Given the description of an element on the screen output the (x, y) to click on. 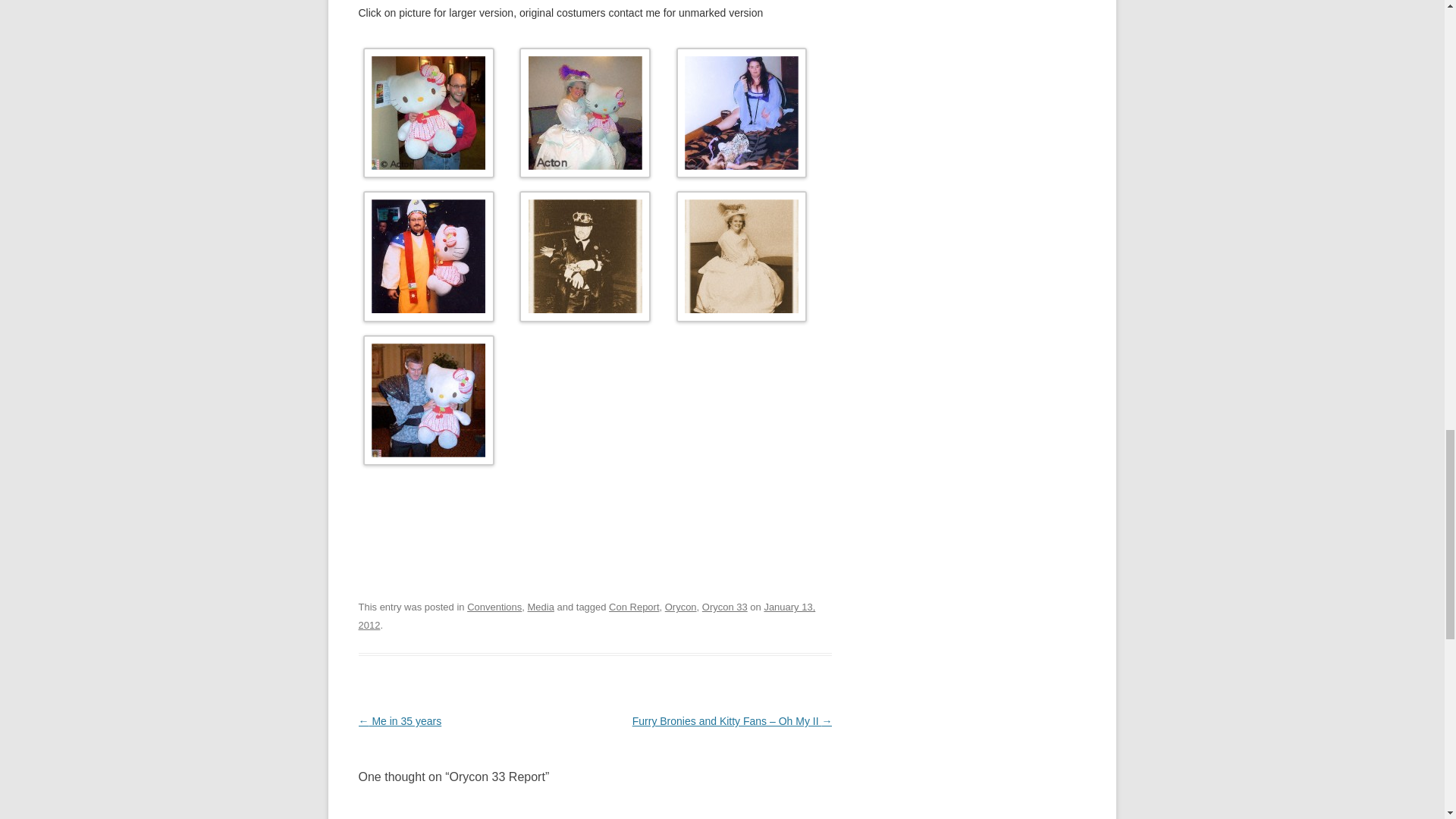
7:35 am (586, 615)
Orycon (681, 606)
January 13, 2012 (586, 615)
Con Report (633, 606)
Orycon 33 (724, 606)
Media (540, 606)
Conventions (494, 606)
